Given the description of an element on the screen output the (x, y) to click on. 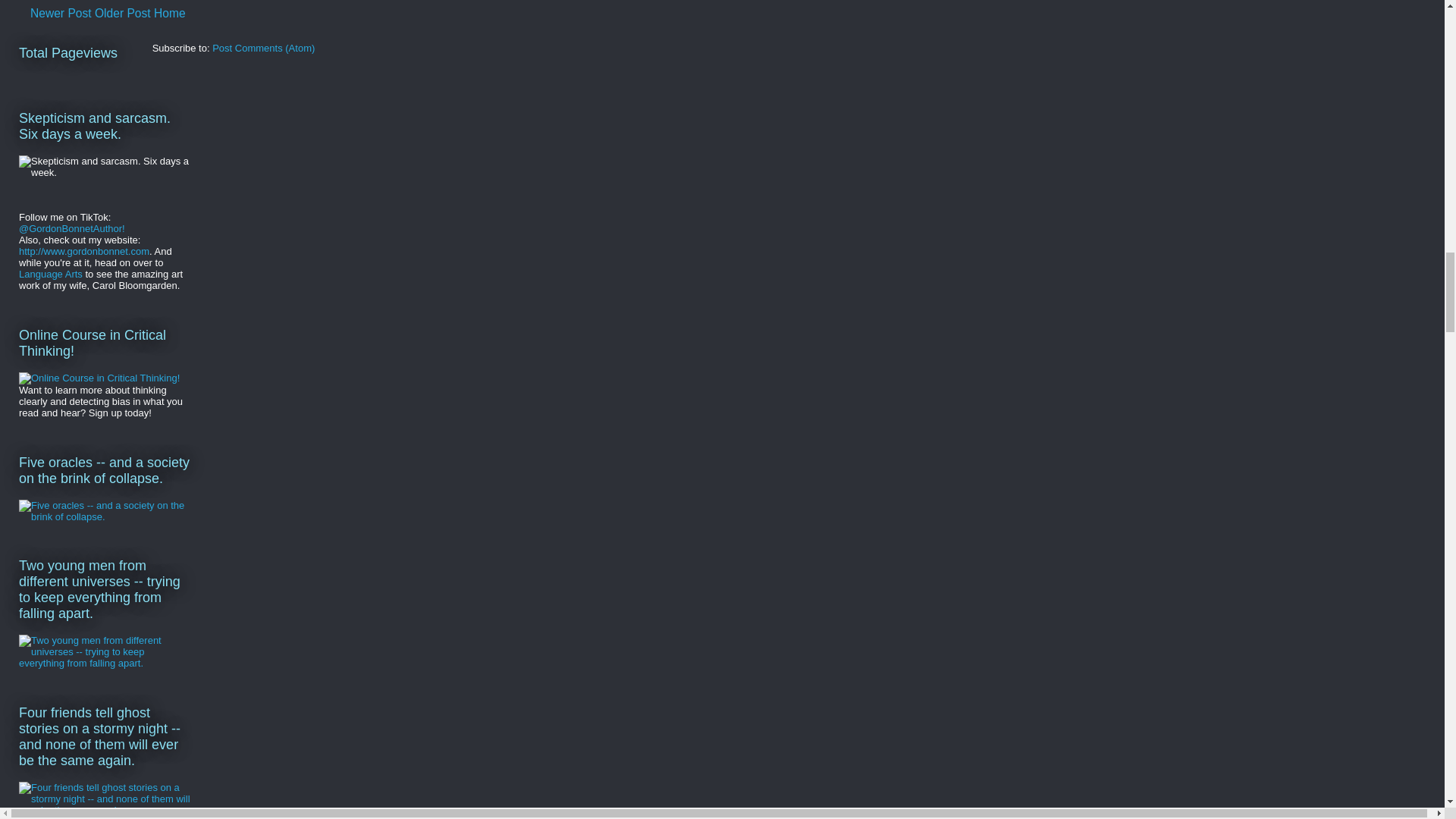
Newer Post (60, 12)
Language Arts (50, 274)
Older Post (122, 12)
Home (170, 12)
Older Post (122, 12)
Newer Post (60, 12)
